Given the description of an element on the screen output the (x, y) to click on. 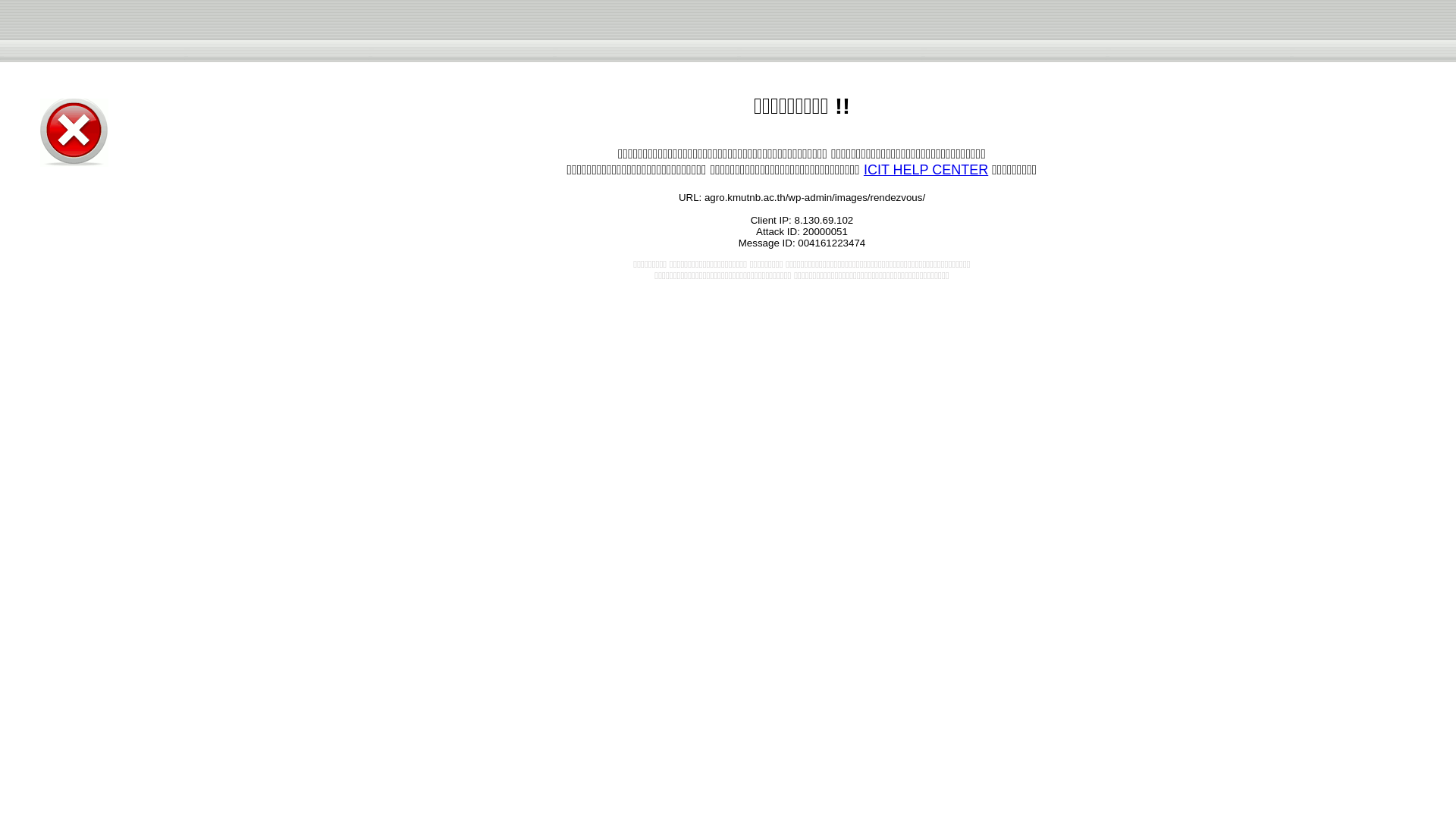
ICIT HELP CENTER (925, 169)
